Given the description of an element on the screen output the (x, y) to click on. 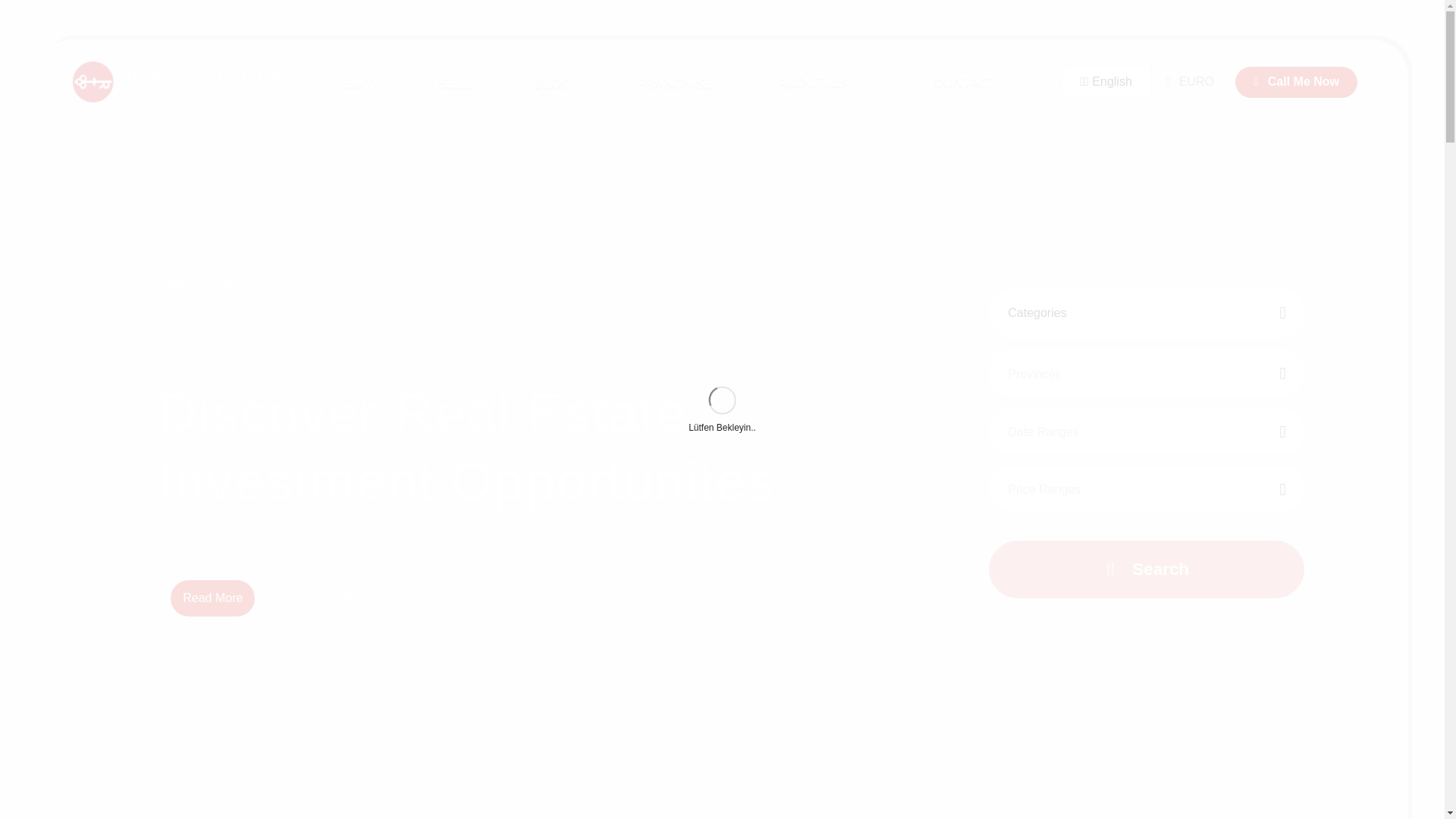
Call Me Now (329, 596)
Call Me Now (1295, 81)
CONTACT (975, 81)
EURO (1187, 82)
Search (1145, 569)
FRANCHISE (674, 82)
SELL (453, 82)
Read More (212, 597)
BUY (358, 82)
BLOG (553, 82)
